Given the description of an element on the screen output the (x, y) to click on. 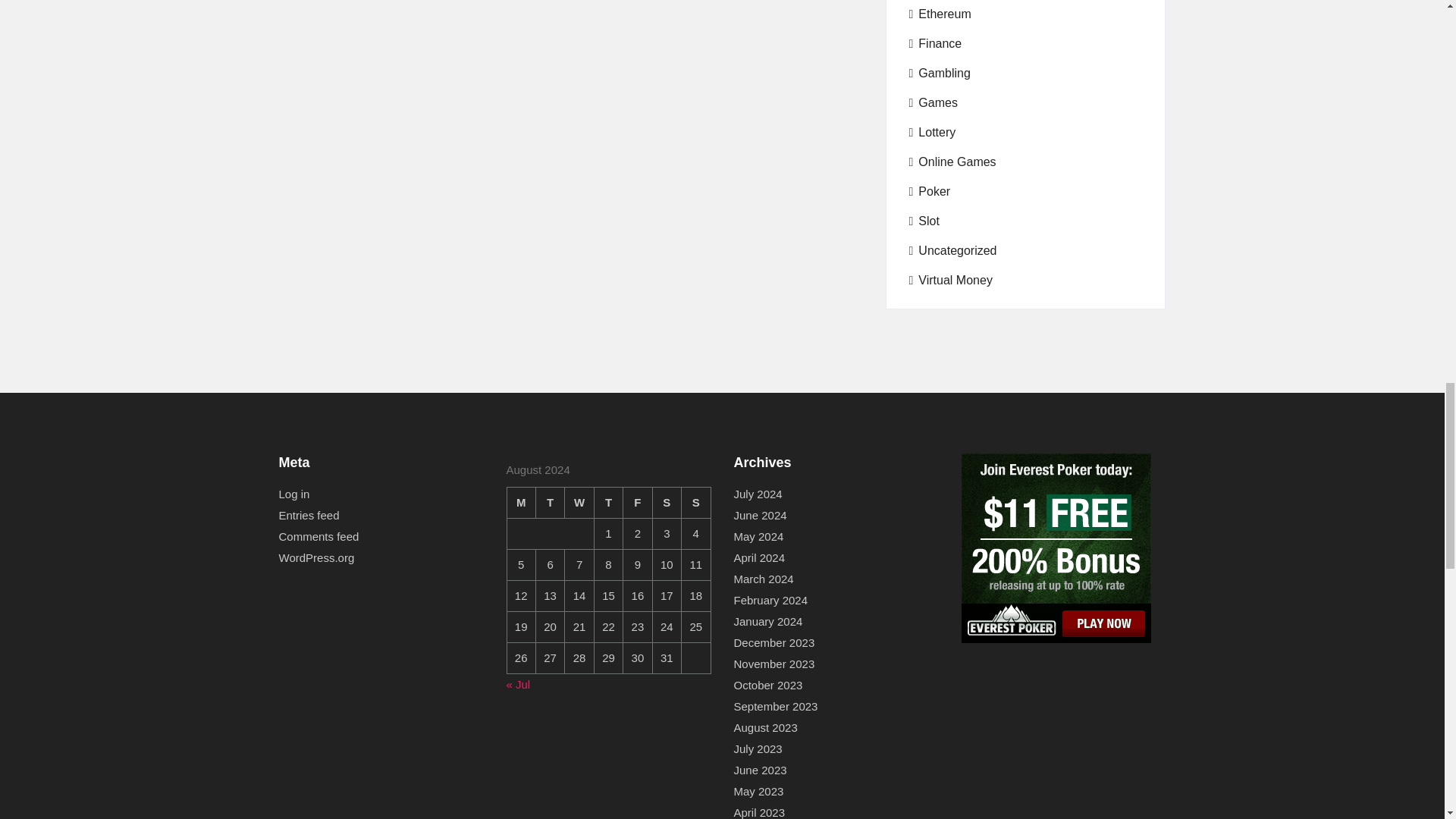
Friday (637, 502)
June 2024 (760, 515)
May 2024 (758, 536)
Comments feed (319, 536)
Finance (934, 44)
Poker (929, 191)
Ethereum (939, 13)
Wednesday (579, 502)
Virtual Money (949, 280)
Games (932, 103)
Slot (923, 221)
Thursday (608, 502)
Tuesday (549, 502)
Entries feed (309, 515)
WordPress.org (317, 557)
